Given the description of an element on the screen output the (x, y) to click on. 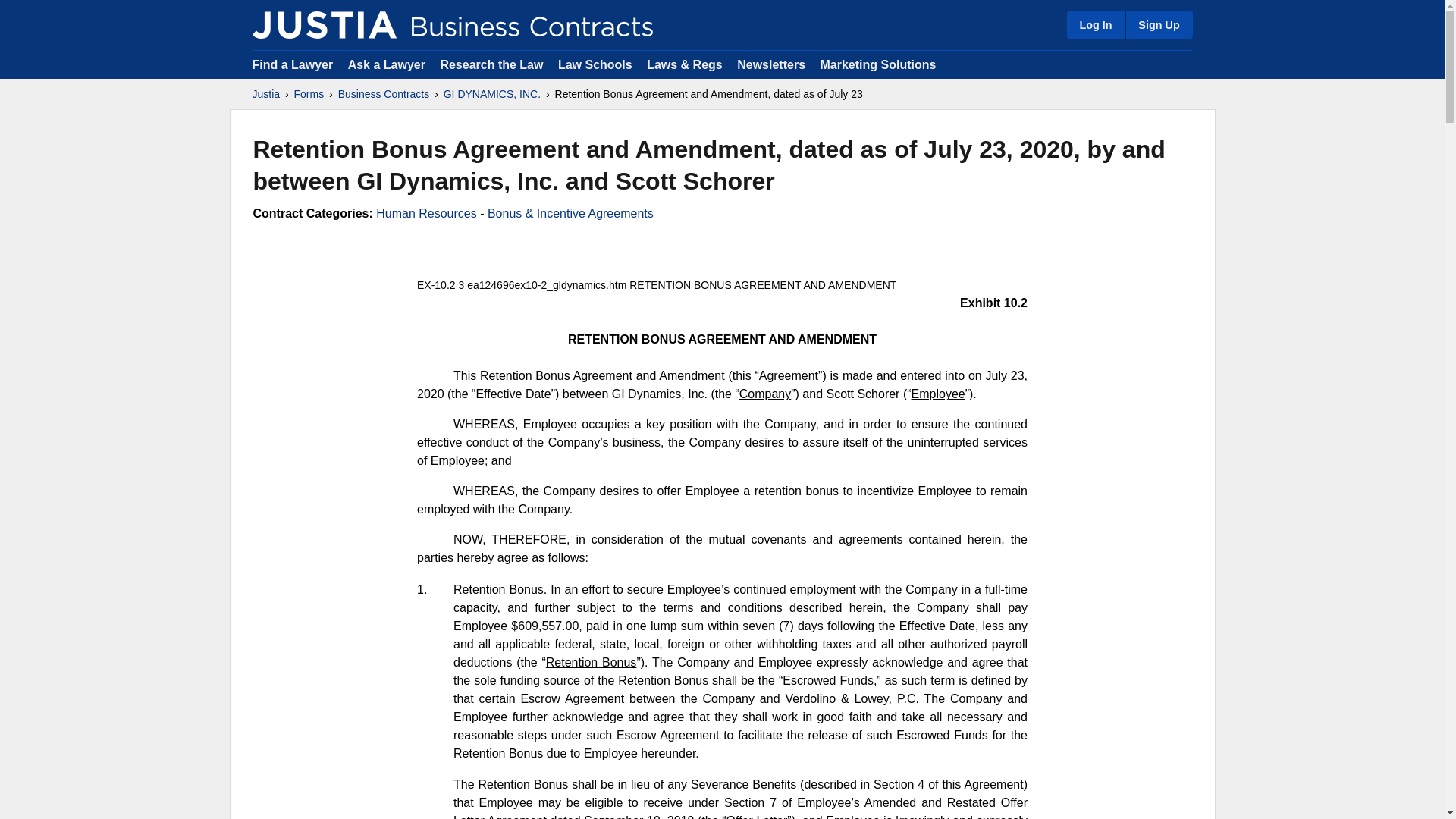
Justia (265, 93)
Forms (309, 93)
Human Resources (426, 213)
Business Contracts (383, 93)
Ask a Lawyer (388, 64)
Research the Law (491, 64)
Sign Up (1158, 24)
Marketing Solutions (877, 64)
Newsletters (770, 64)
Find a Lawyer (292, 64)
Log In (1094, 24)
Law Schools (594, 64)
GI DYNAMICS, INC. (492, 93)
Justia (323, 24)
